Given the description of an element on the screen output the (x, y) to click on. 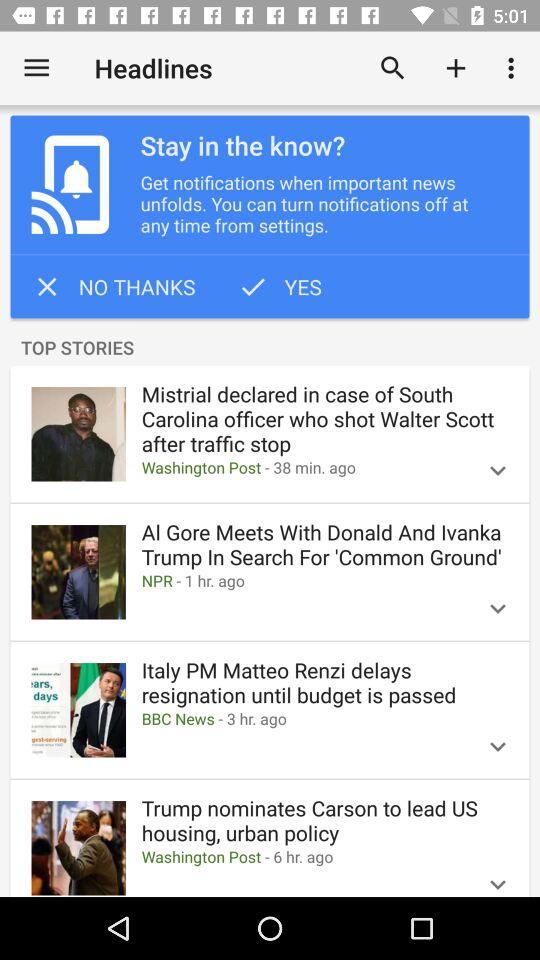
swipe to the bbc news 3 icon (301, 718)
